Given the description of an element on the screen output the (x, y) to click on. 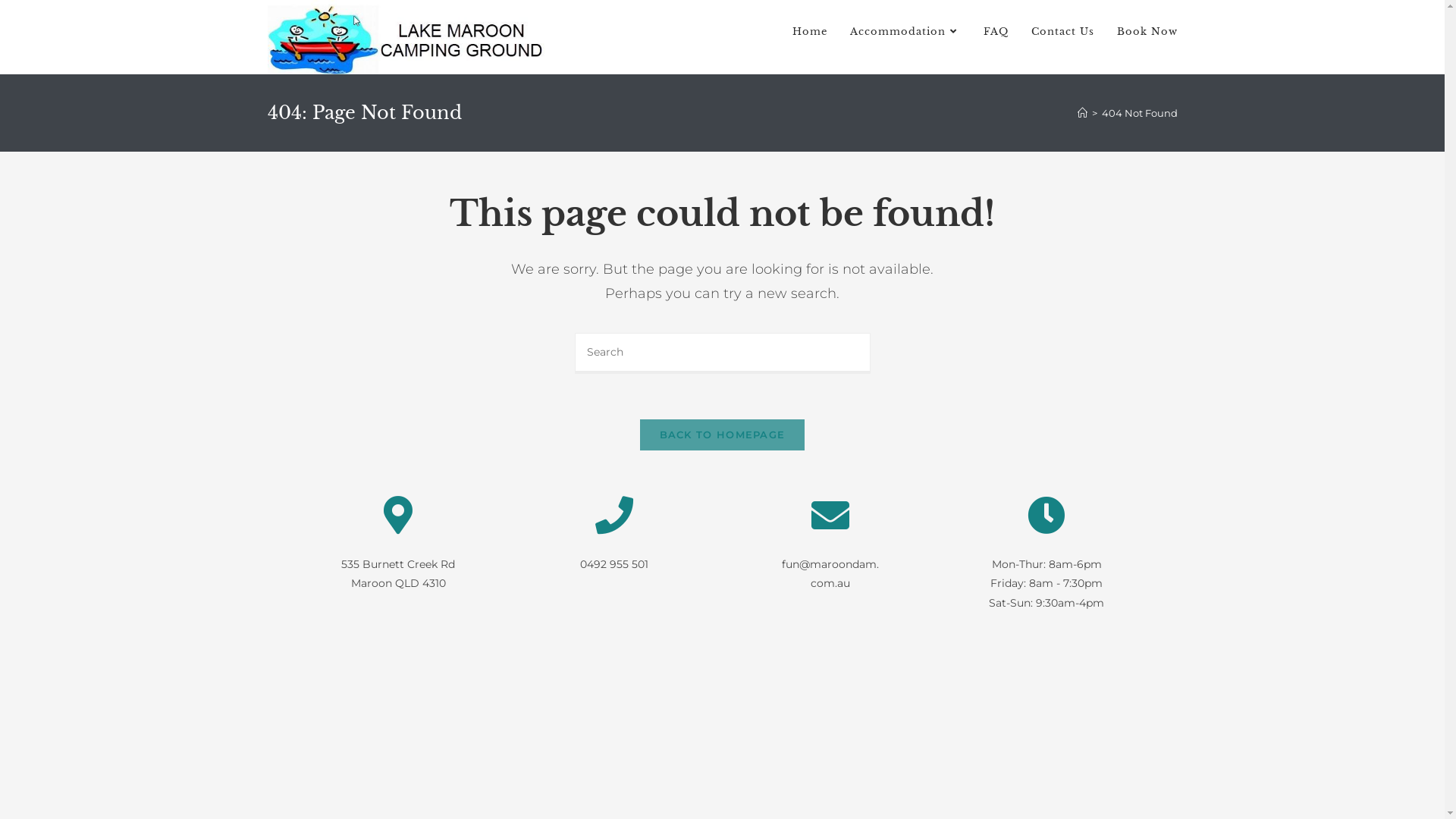
BACK TO HOMEPAGE Element type: text (722, 434)
Accommodation Element type: text (905, 31)
Contact Us Element type: text (1061, 31)
Book Now Element type: text (1147, 31)
Home Element type: text (809, 31)
404 Not Found Element type: text (1138, 112)
FAQ Element type: text (995, 31)
